Given the description of an element on the screen output the (x, y) to click on. 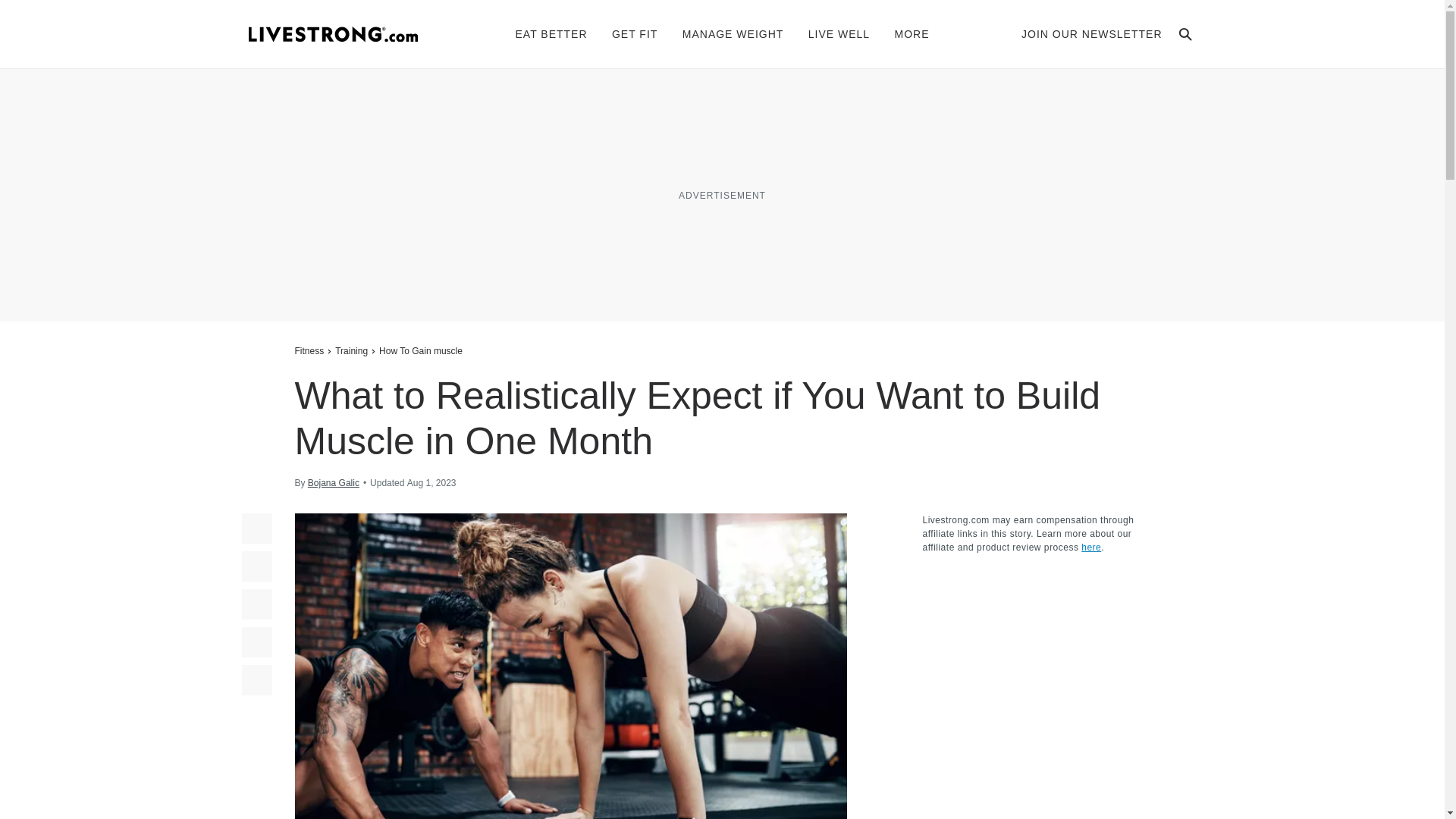
Fitness (310, 350)
Training (351, 350)
MANAGE WEIGHT (733, 33)
How To Gain muscle (420, 350)
LIVE WELL (838, 33)
JOIN OUR NEWSLETTER (1091, 33)
Learn more about our affiliate and product review process (1090, 547)
Bojana Galic (333, 482)
EAT BETTER (551, 33)
GET FIT (634, 33)
